Given the description of an element on the screen output the (x, y) to click on. 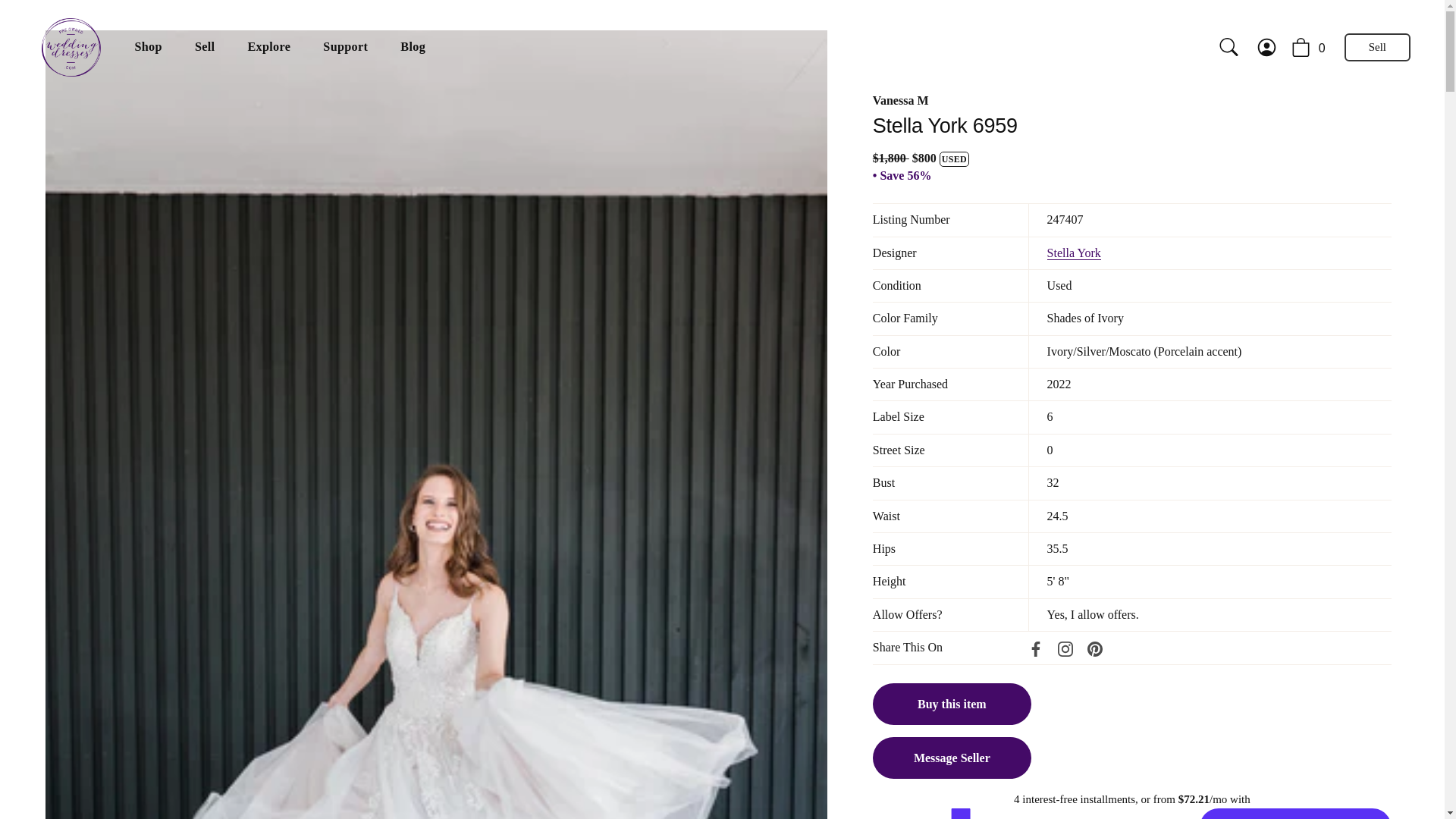
Account Login (1273, 47)
Shop (147, 47)
Support (345, 47)
Explore (268, 47)
Pinterest (1094, 648)
Blog (413, 47)
Instagram (1065, 648)
Sell (203, 47)
